Given the description of an element on the screen output the (x, y) to click on. 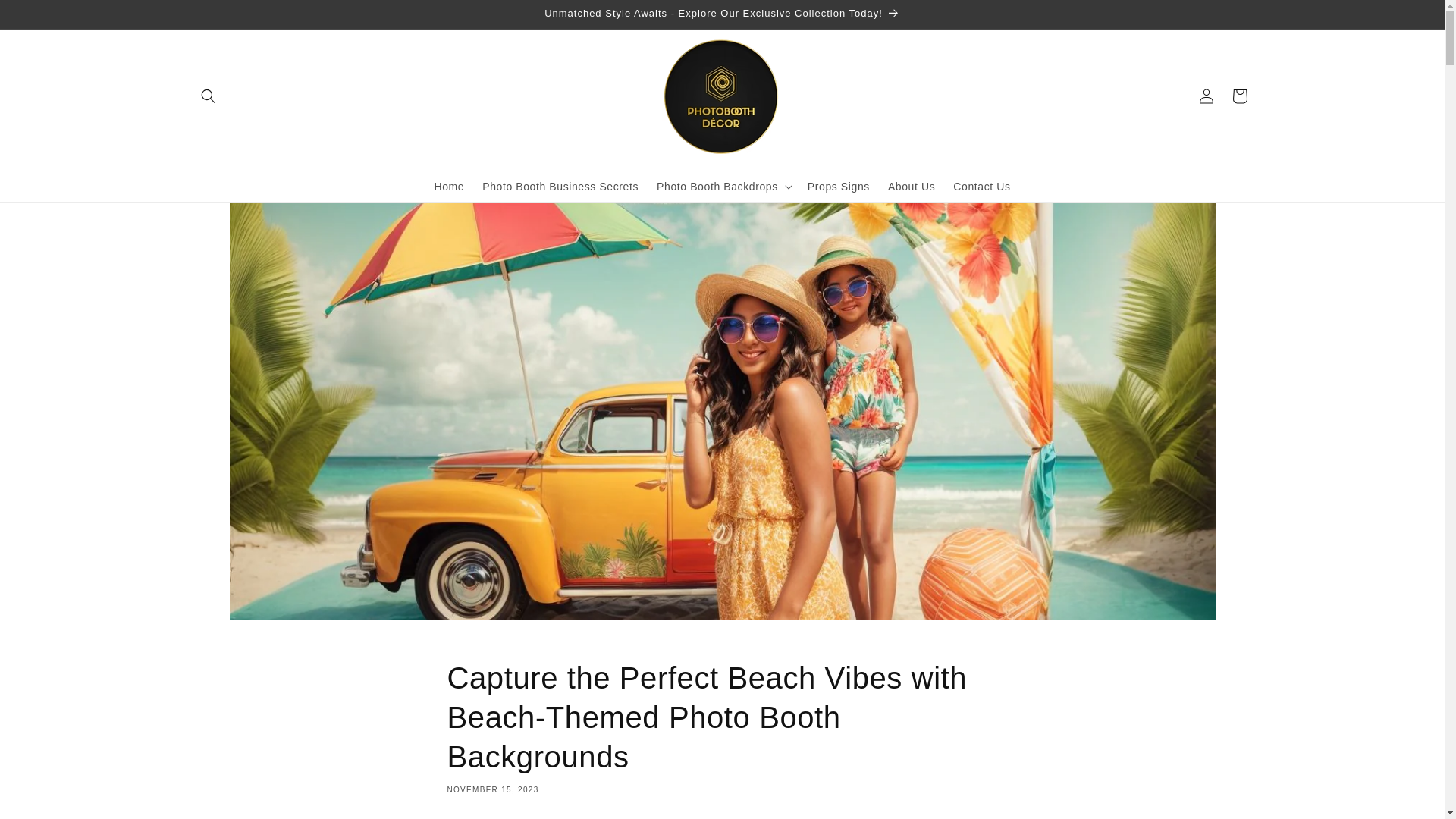
Skip to content (45, 16)
